Given the description of an element on the screen output the (x, y) to click on. 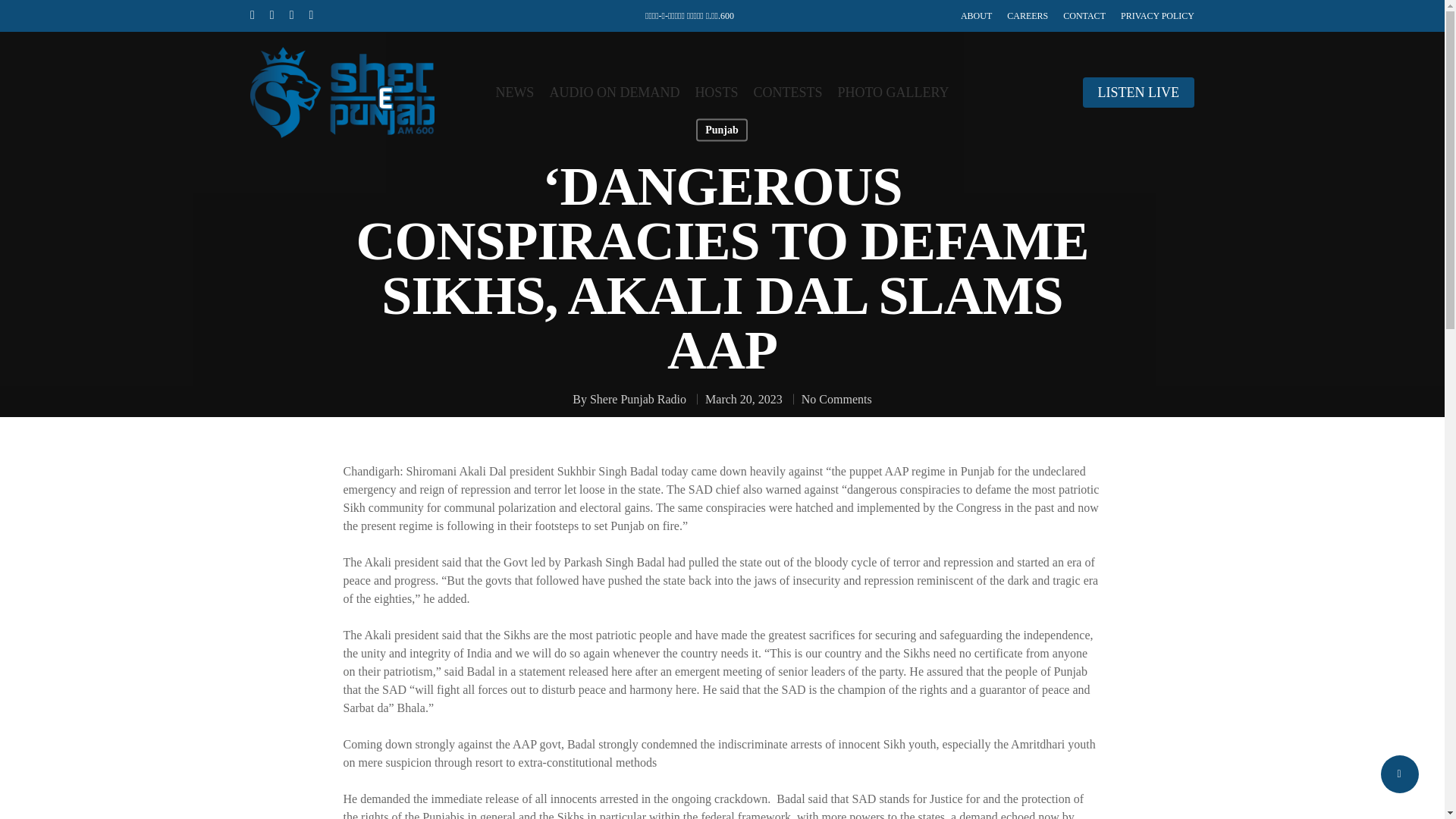
LISTEN LIVE (1138, 92)
PHOTO GALLERY (893, 92)
No Comments (837, 399)
Posts by Shere Punjab Radio (637, 399)
ABOUT (975, 15)
Punjab (721, 128)
AUDIO ON DEMAND (613, 92)
CAREERS (1027, 15)
PRIVACY POLICY (1157, 15)
Shere Punjab Radio (637, 399)
HOSTS (716, 92)
CONTESTS (787, 92)
NEWS (514, 92)
CONTACT (1083, 15)
